Given the description of an element on the screen output the (x, y) to click on. 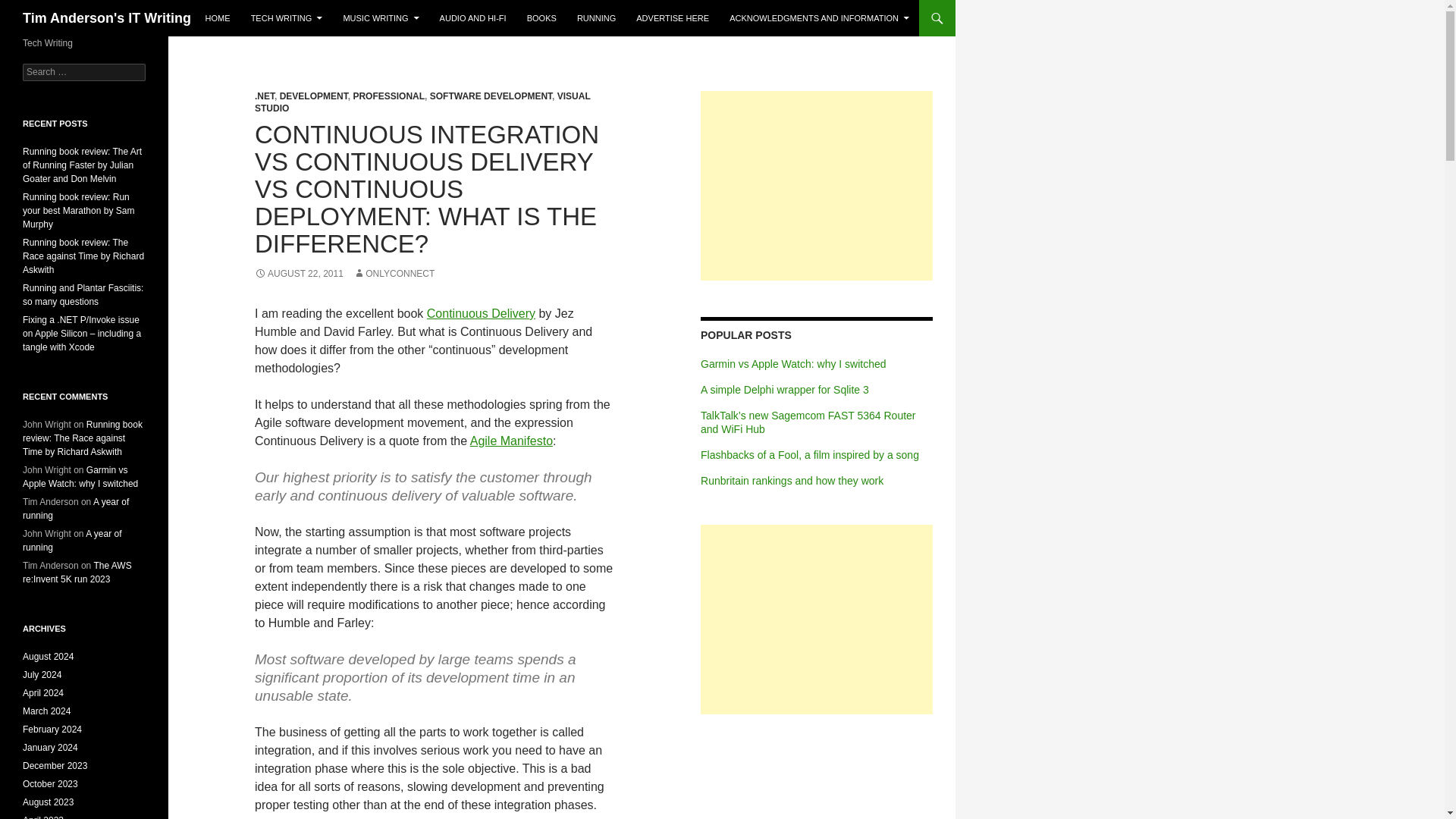
ACKNOWLEDGMENTS AND INFORMATION (819, 18)
Tim Anderson's IT Writing (106, 18)
ADVERTISE HERE (672, 18)
.NET (264, 95)
Agile Manifesto (511, 440)
BOOKS (542, 18)
MUSIC WRITING (380, 18)
VISUAL STUDIO (422, 101)
RUNNING (595, 18)
SOFTWARE DEVELOPMENT (490, 95)
